Given the description of an element on the screen output the (x, y) to click on. 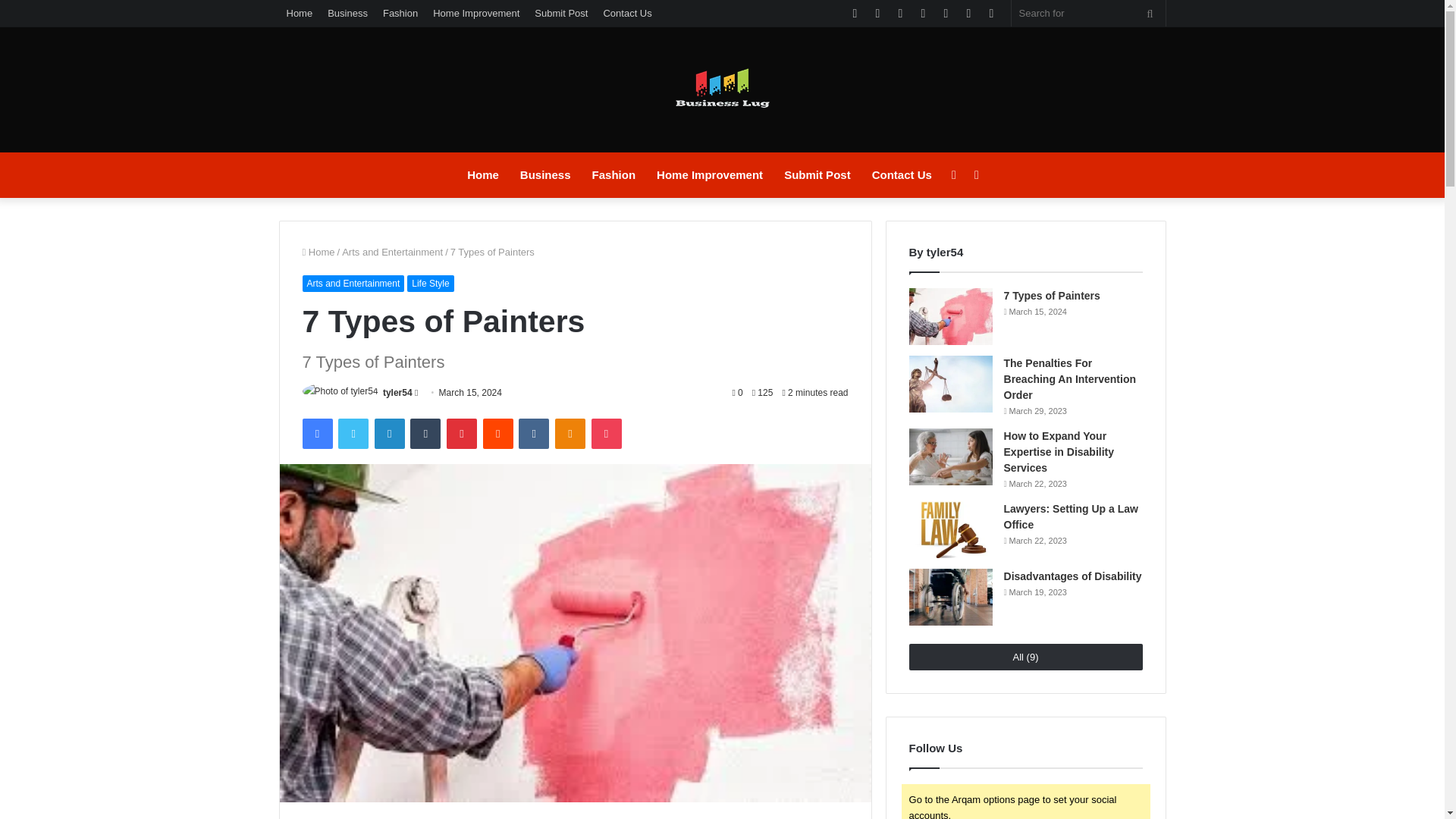
Submit Post (817, 175)
VKontakte (533, 433)
Home Improvement (709, 175)
Fashion (400, 13)
Odnoklassniki (569, 433)
Home (483, 175)
LinkedIn (389, 433)
Submit Post (561, 13)
Tumblr (425, 433)
Twitter (352, 433)
